Given the description of an element on the screen output the (x, y) to click on. 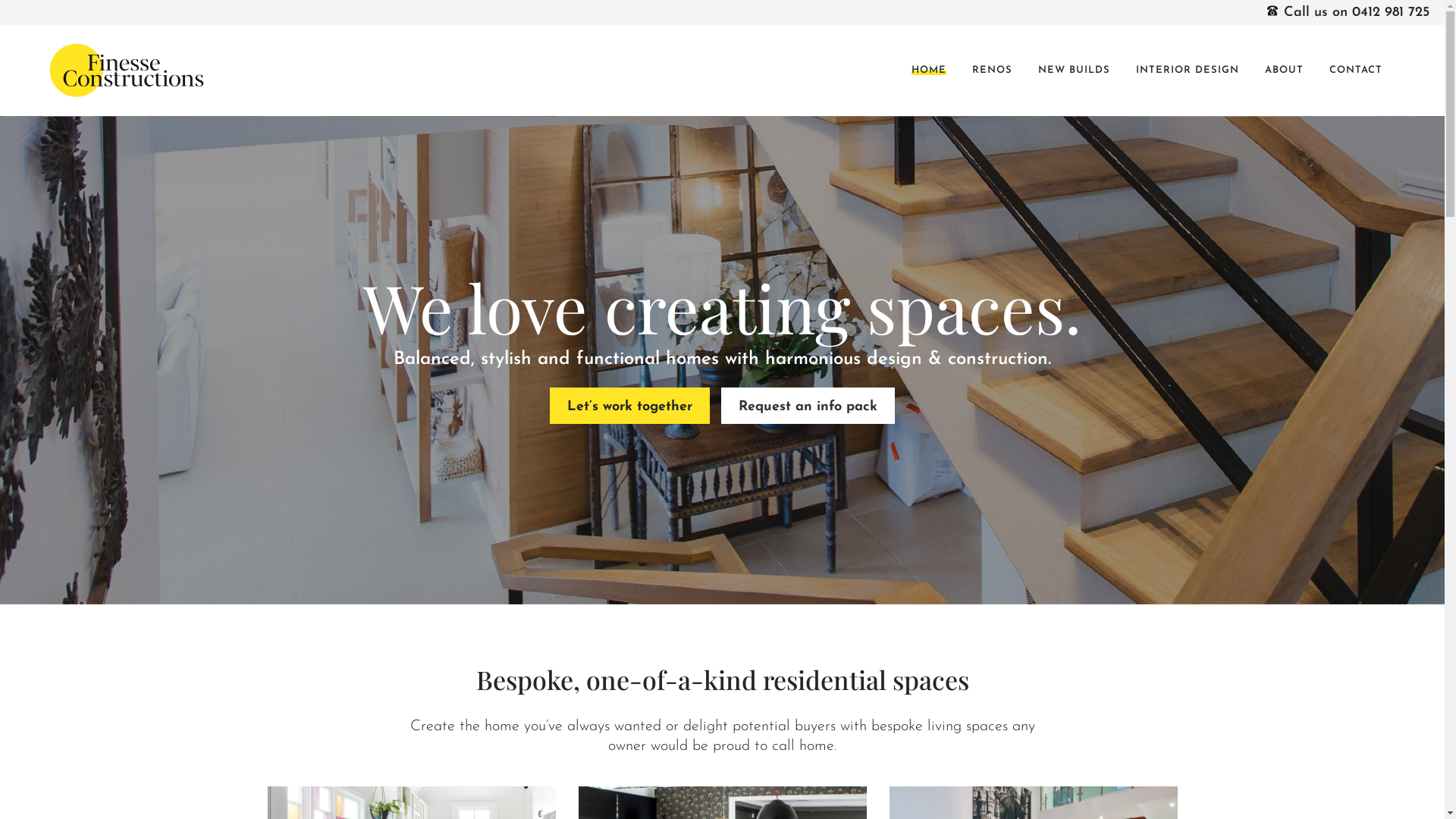
NEW BUILDS Element type: text (1074, 70)
RENOS Element type: text (992, 70)
HOME Element type: text (928, 70)
INTERIOR DESIGN Element type: text (1187, 70)
Call us on 0412 981 725 Element type: text (1348, 12)
Request an info pack Element type: text (807, 405)
ABOUT Element type: text (1284, 70)
CONTACT Element type: text (1355, 70)
